Given the description of an element on the screen output the (x, y) to click on. 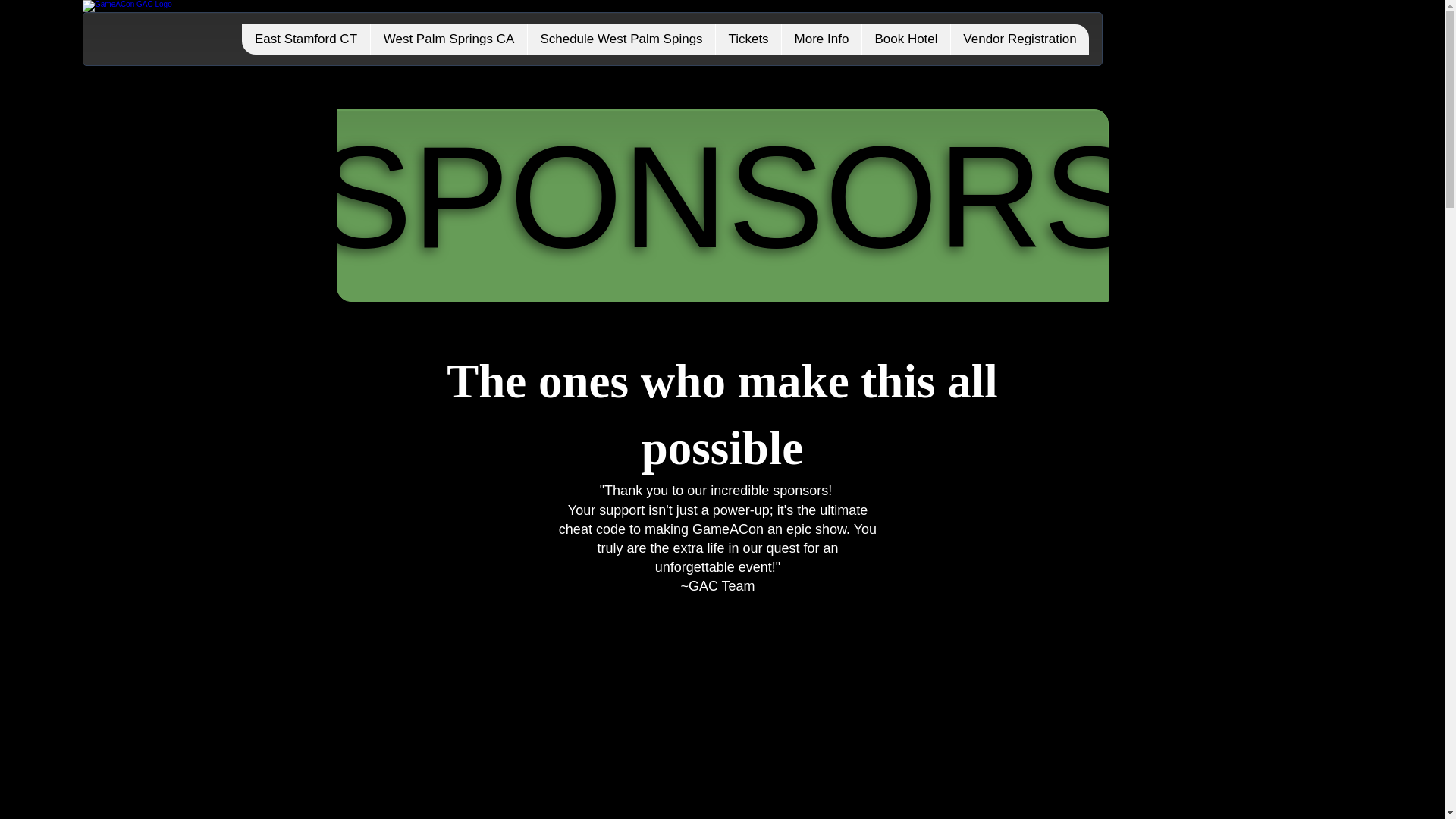
Schedule West Palm Spings (620, 39)
Book Hotel (905, 39)
East Stamford CT (305, 39)
Tickets (747, 39)
More Info (820, 39)
Vendor Registration (1019, 39)
West Palm Springs CA (448, 39)
